Given the description of an element on the screen output the (x, y) to click on. 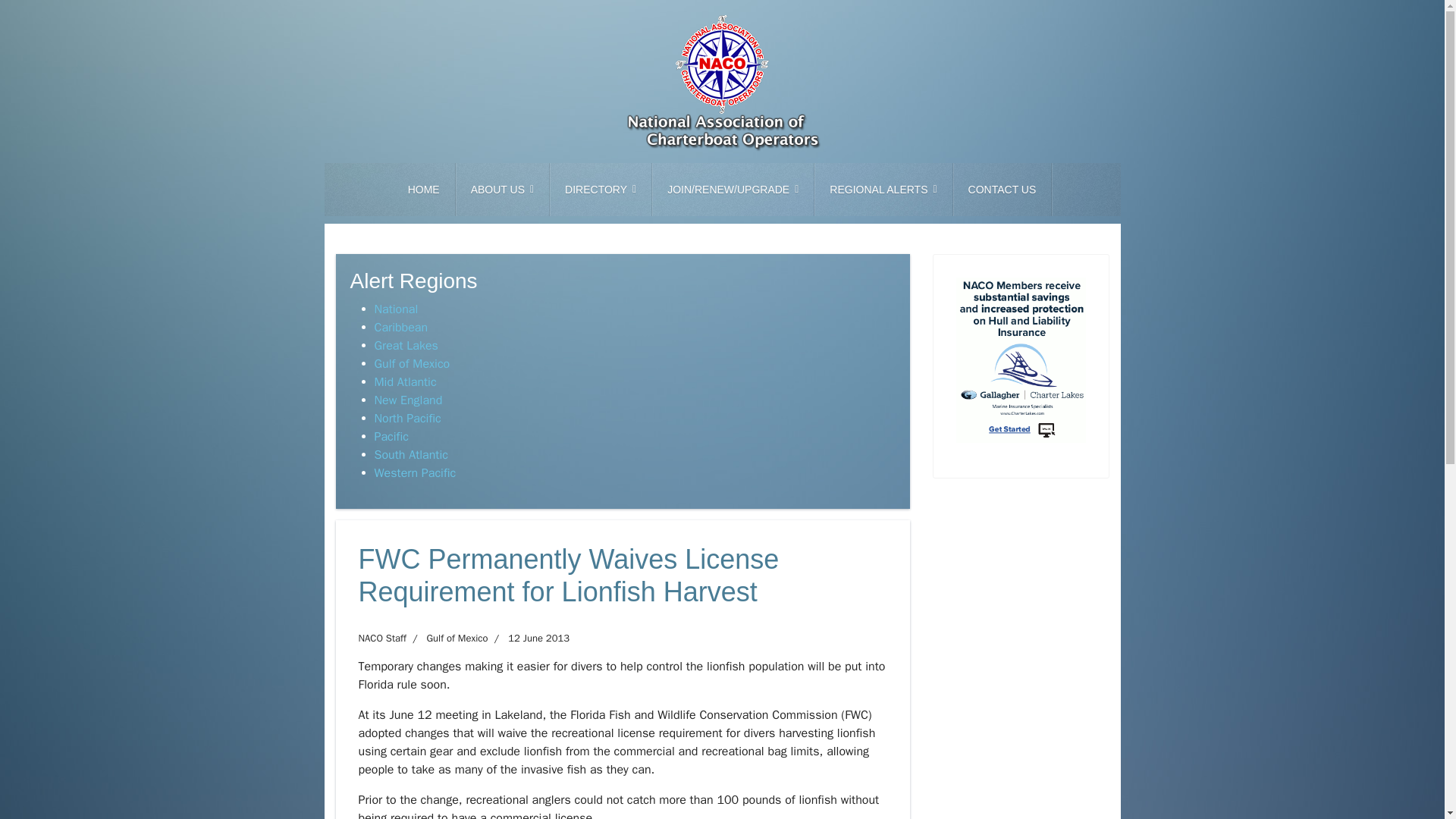
Category: Gulf of Mexico  (446, 638)
National News Alerts (396, 309)
North Pacific Regional News Alerts (407, 418)
ABOUT US (502, 189)
Caribbean Regional News Alerts (401, 327)
HOME (424, 189)
Published: 12 June 2013 (528, 638)
DIRECTORY (601, 189)
Great Lakes Regional News Alerts (406, 345)
Western Pacific Regional News Alerts (415, 473)
South Atlantic Regional News Alerts (411, 454)
Mid Atlantic Regional News Alerts (405, 381)
Pacific Regional News Alerts (391, 436)
Written by: NACO Staff (382, 638)
New England Regional News Alerts (408, 400)
